Given the description of an element on the screen output the (x, y) to click on. 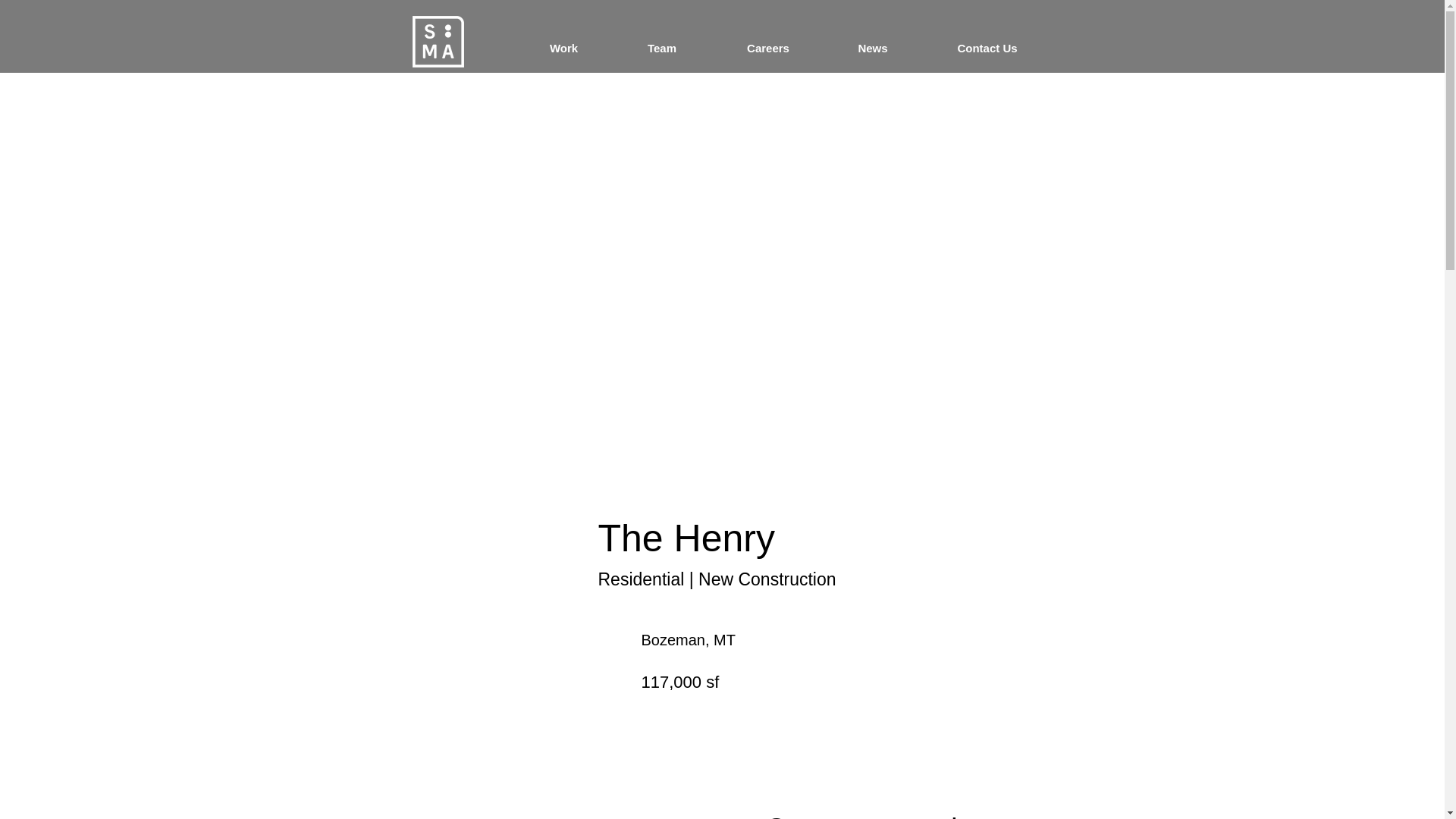
Team (661, 48)
News (872, 48)
Careers (768, 48)
Contact Us (986, 48)
Work (563, 48)
